Given the description of an element on the screen output the (x, y) to click on. 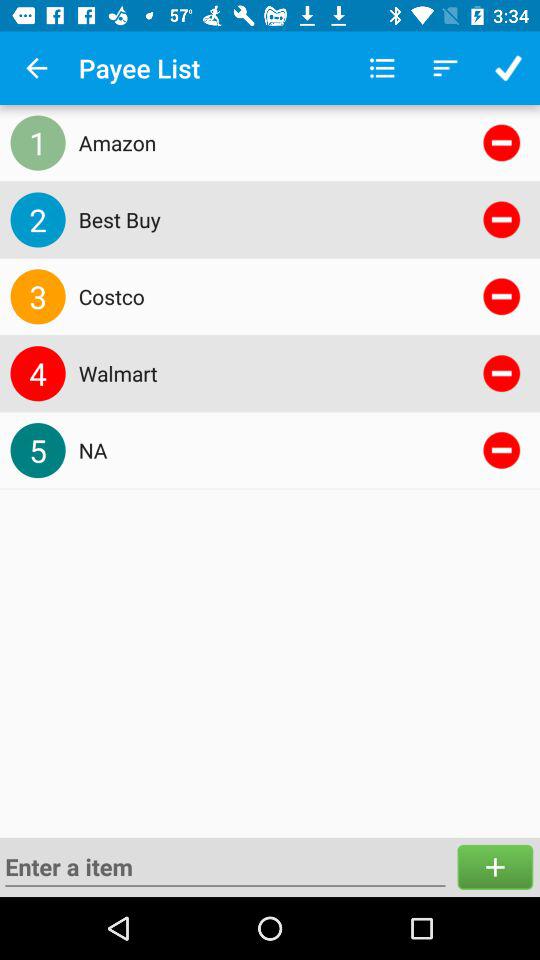
turn off icon at the bottom right corner (495, 866)
